Given the description of an element on the screen output the (x, y) to click on. 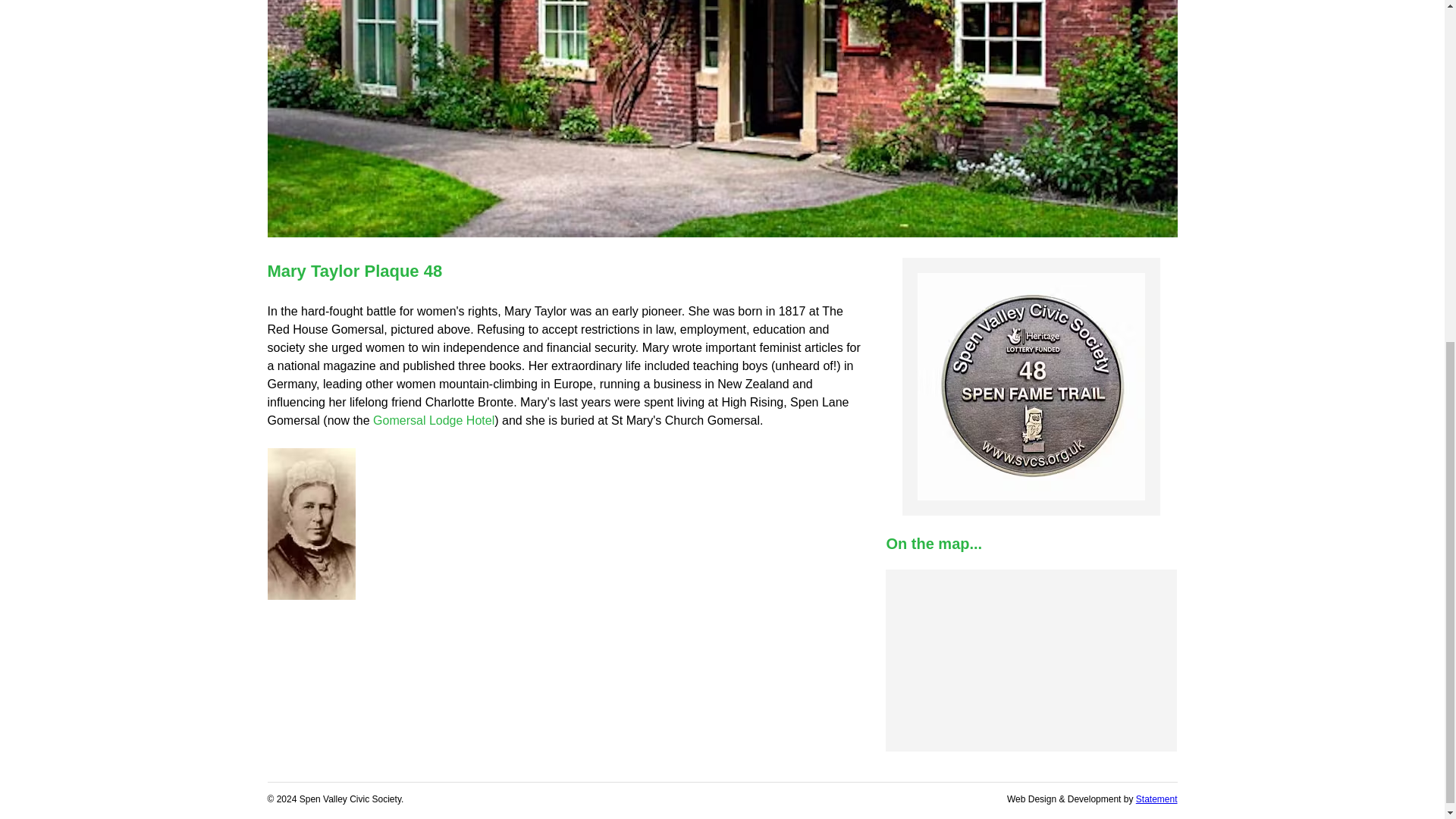
Statement (1156, 798)
Gomersal Lodge Hotel (433, 420)
